Given the description of an element on the screen output the (x, y) to click on. 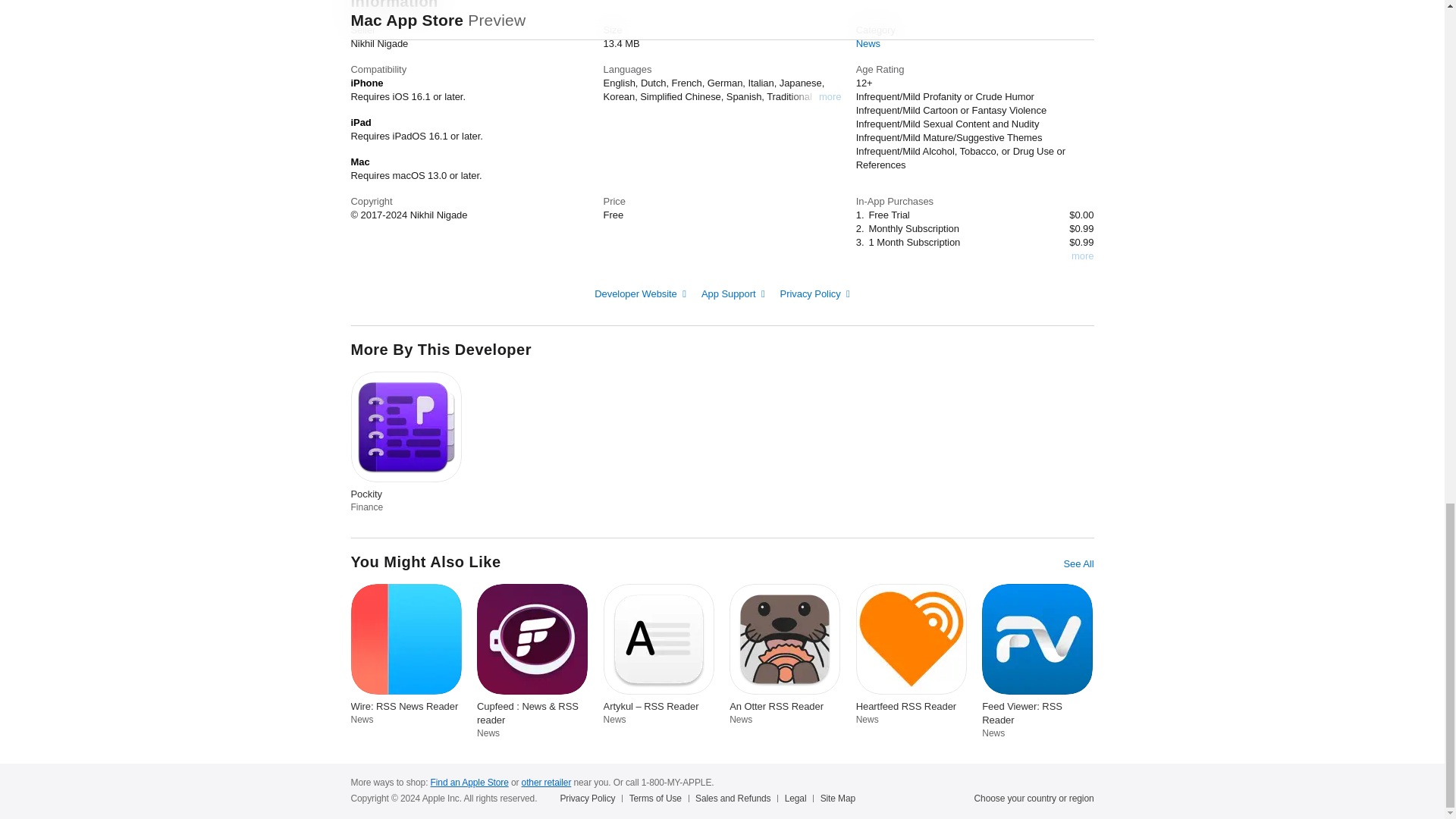
Privacy Policy (815, 293)
more (1082, 255)
News (868, 43)
more (829, 97)
App Support (733, 293)
Choose your country or region (1034, 798)
Developer Website (639, 293)
